Given the description of an element on the screen output the (x, y) to click on. 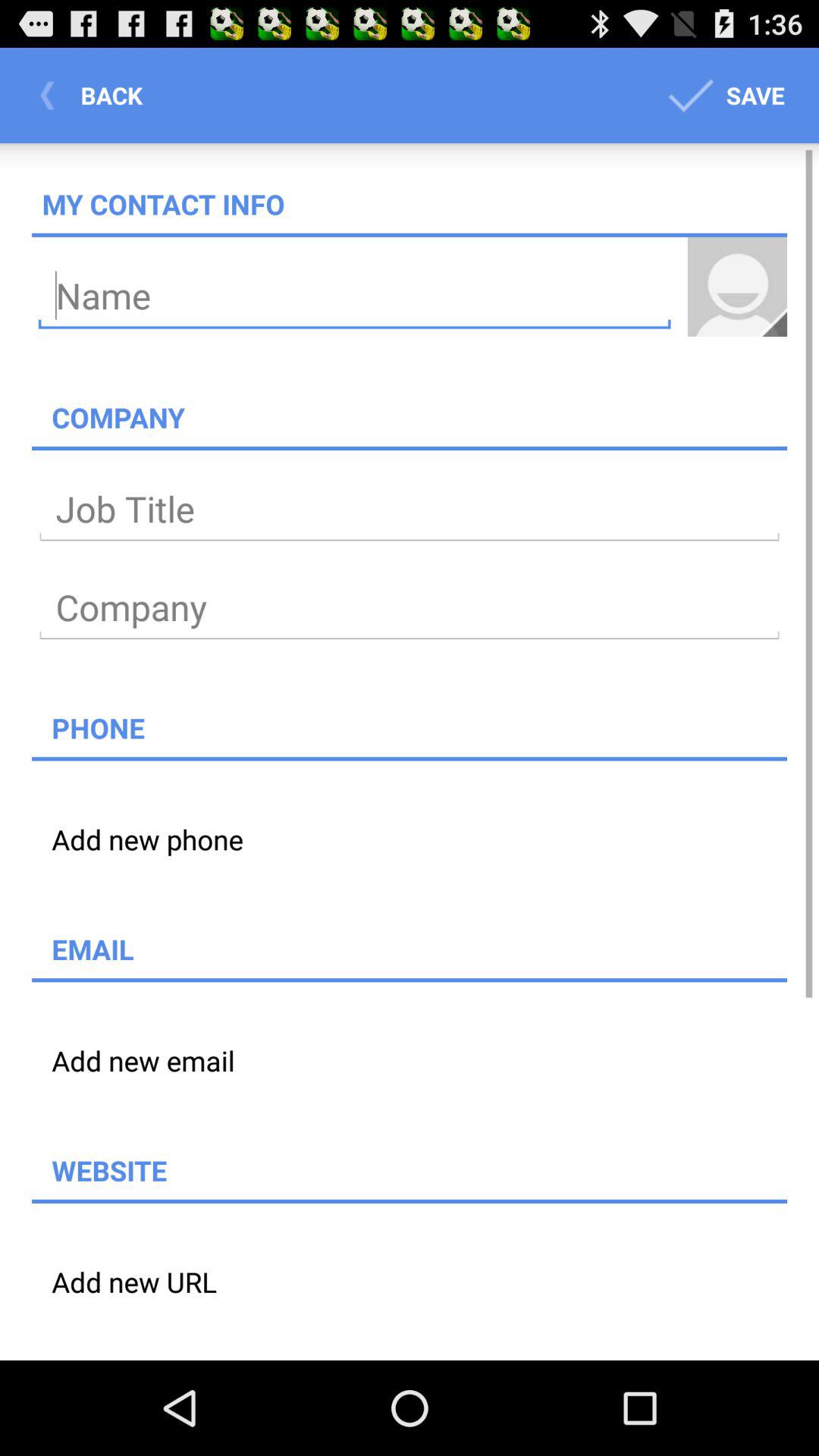
press icon to the right of the back (723, 95)
